Given the description of an element on the screen output the (x, y) to click on. 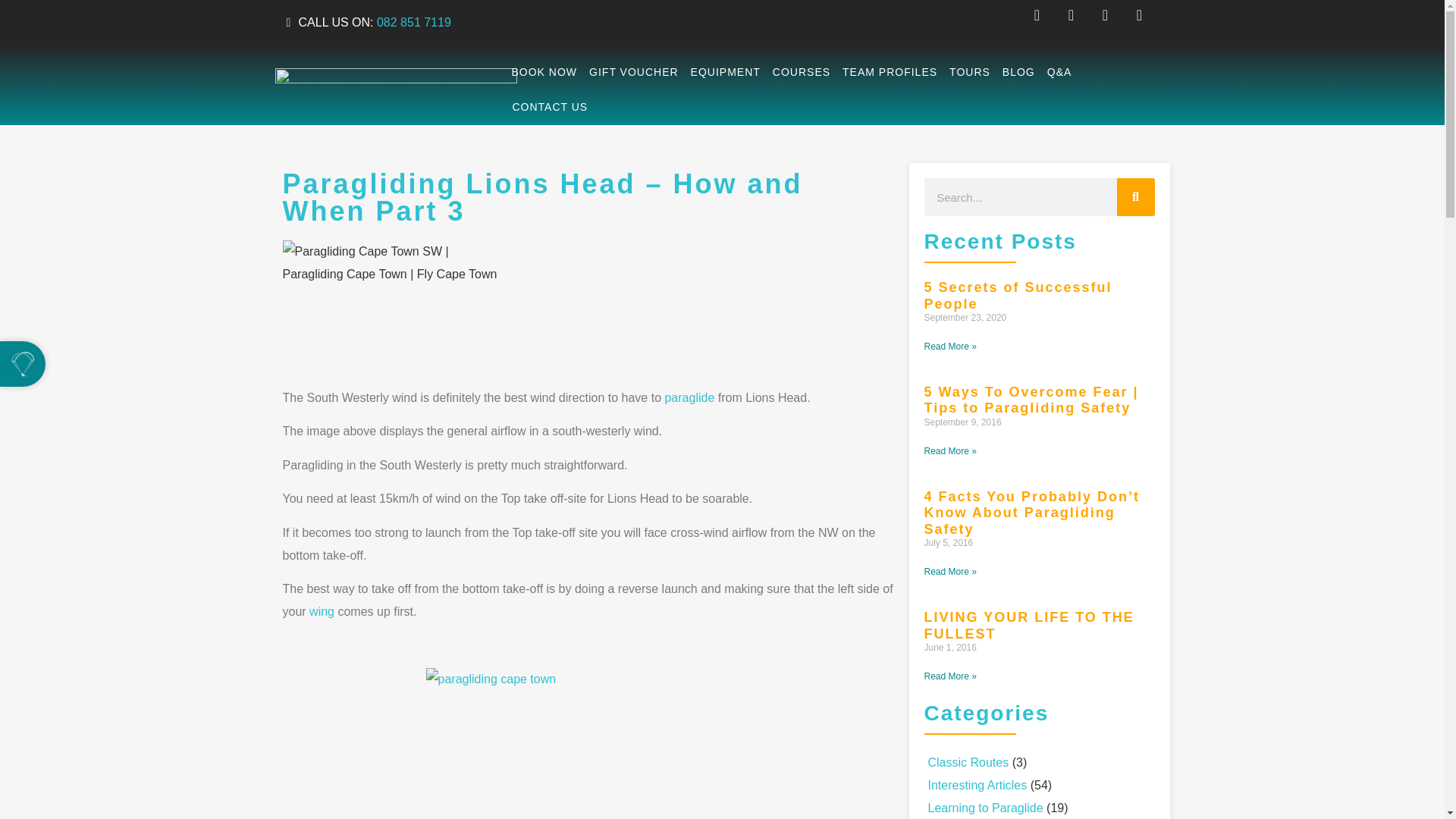
TOURS (969, 71)
COURSES (801, 71)
GIFT VOUCHER (633, 71)
BOOK NOW (544, 71)
BLOG (1019, 71)
CONTACT US (549, 106)
EQUIPMENT (725, 71)
Home (688, 397)
5 Secrets of Successful People (1017, 296)
paraglide (688, 397)
